Given the description of an element on the screen output the (x, y) to click on. 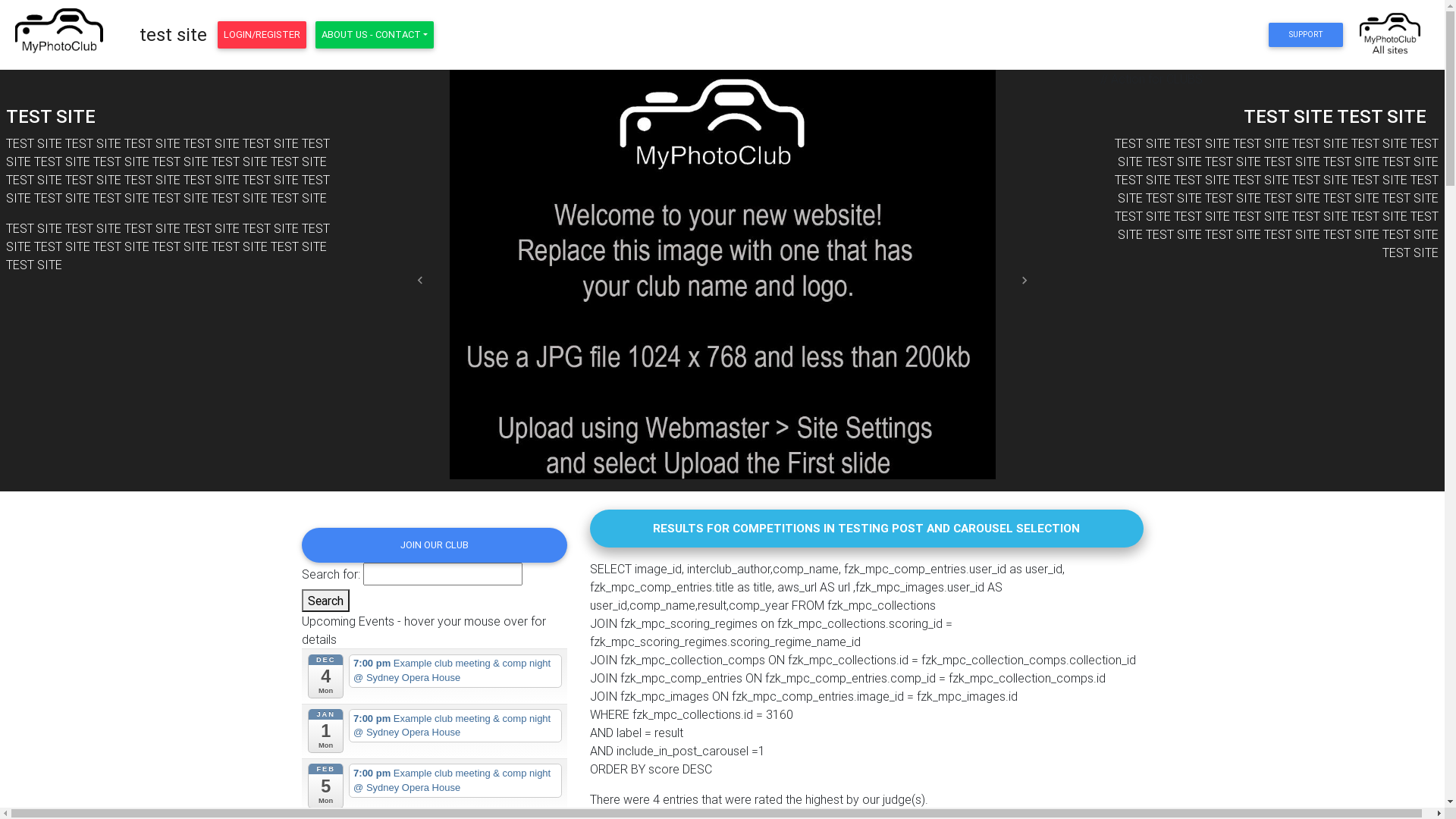
JOIN OUR CLUB Element type: text (434, 544)
Previous Element type: text (420, 280)
Search Element type: text (325, 600)
DEC
4
Mon Element type: text (325, 676)
ABOUT US - CONTACT Element type: text (374, 34)
LOGIN/REGISTER Element type: text (261, 34)
Next Element type: text (1024, 280)
JAN
1
Mon Element type: text (325, 731)
FEB
5
Mon Element type: text (325, 785)
test site Element type: text (173, 35)
SUPPORT Element type: text (1305, 34)
